Given the description of an element on the screen output the (x, y) to click on. 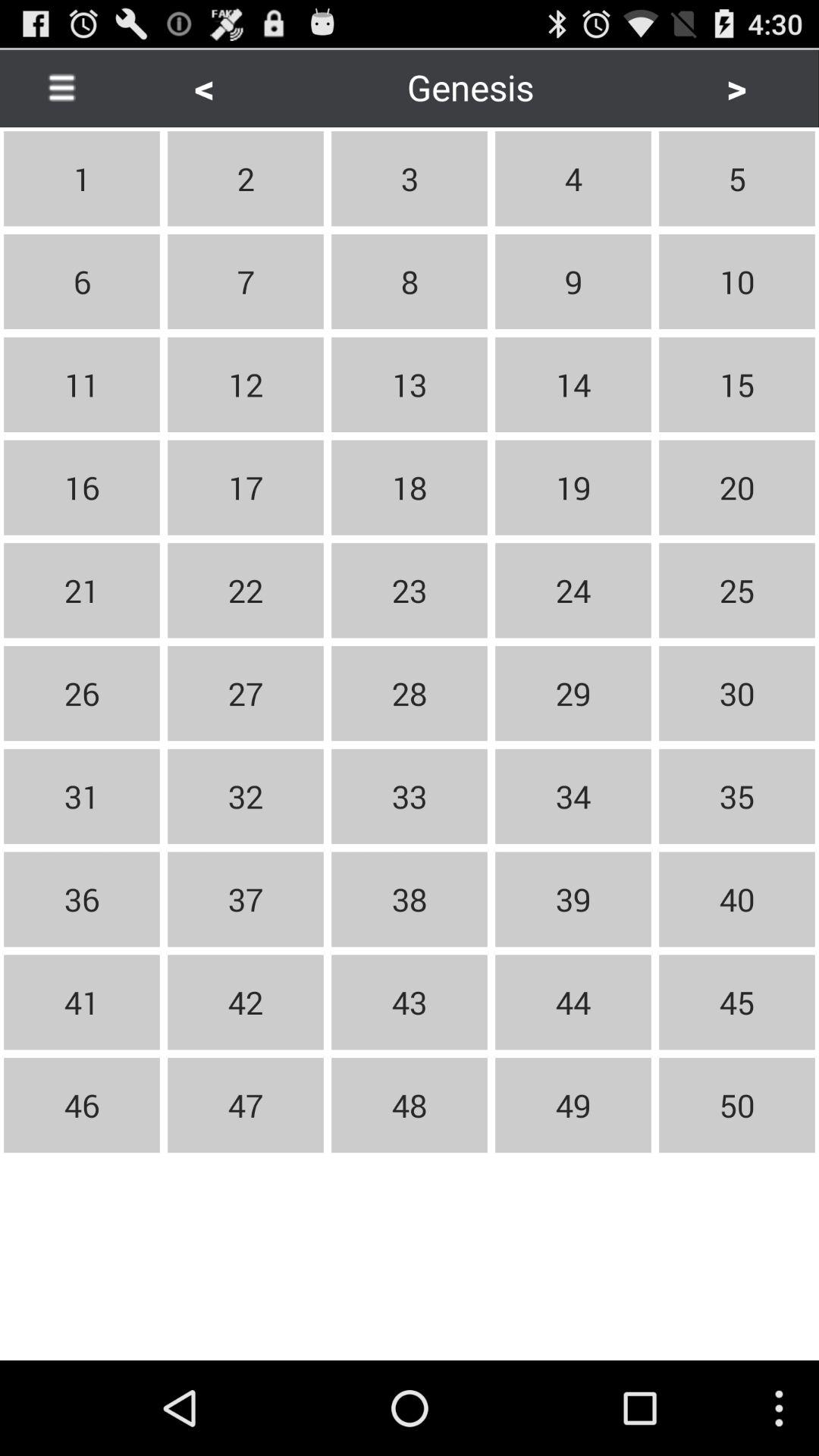
click the icon above 1 item (61, 87)
